Given the description of an element on the screen output the (x, y) to click on. 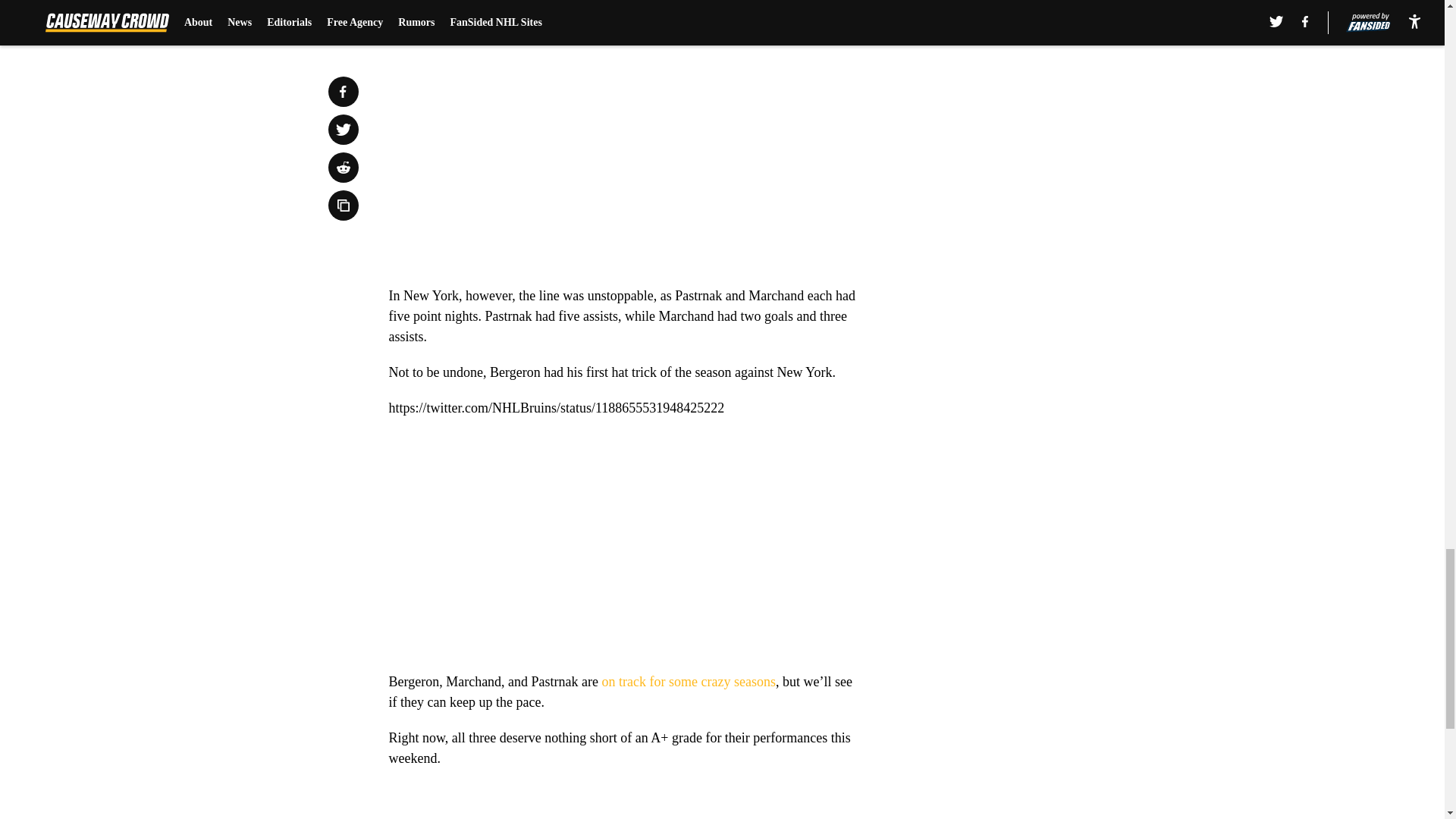
on track for some crazy seasons (689, 681)
